Given the description of an element on the screen output the (x, y) to click on. 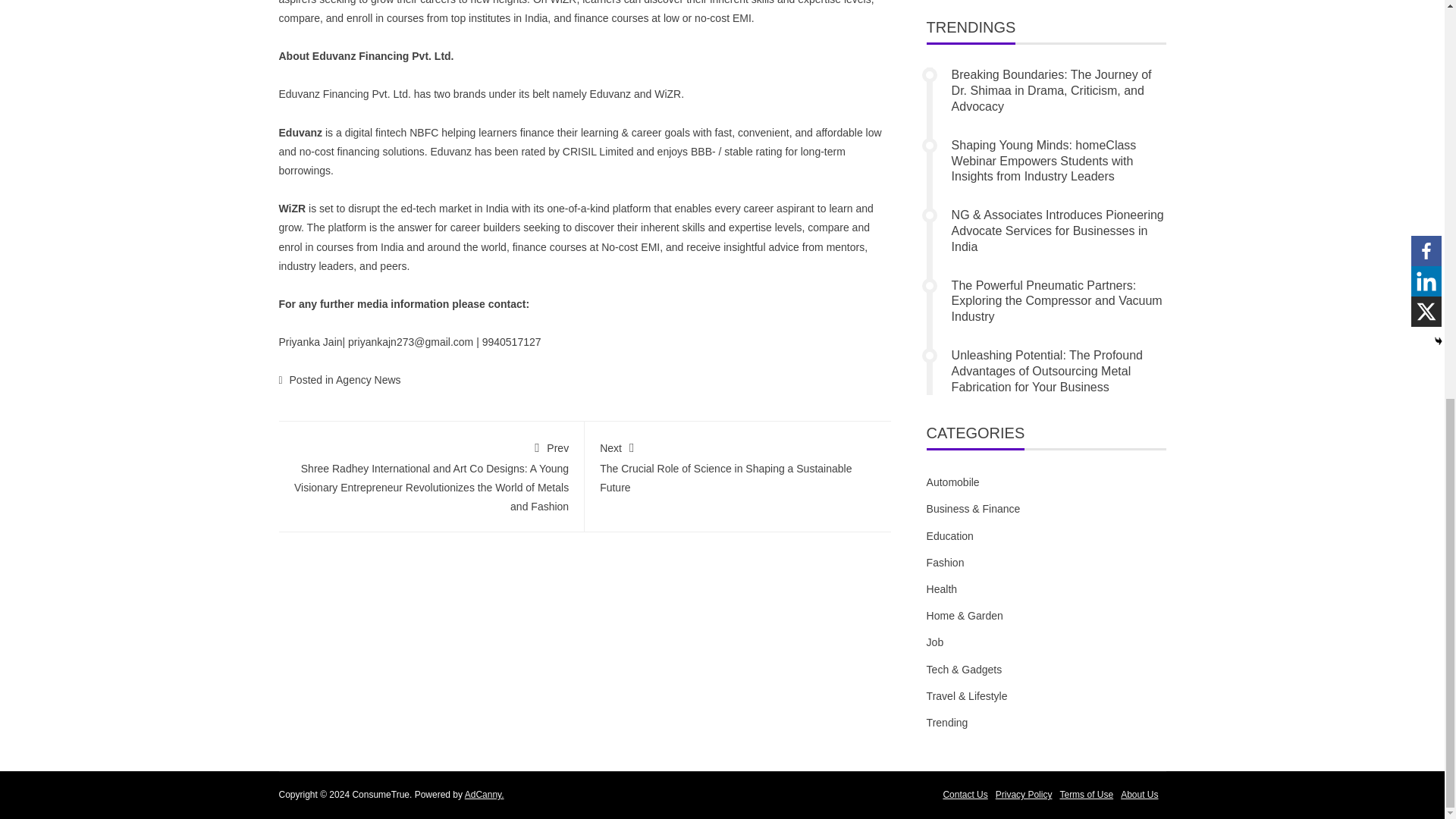
Agency News (368, 379)
Automobile (952, 481)
